Given the description of an element on the screen output the (x, y) to click on. 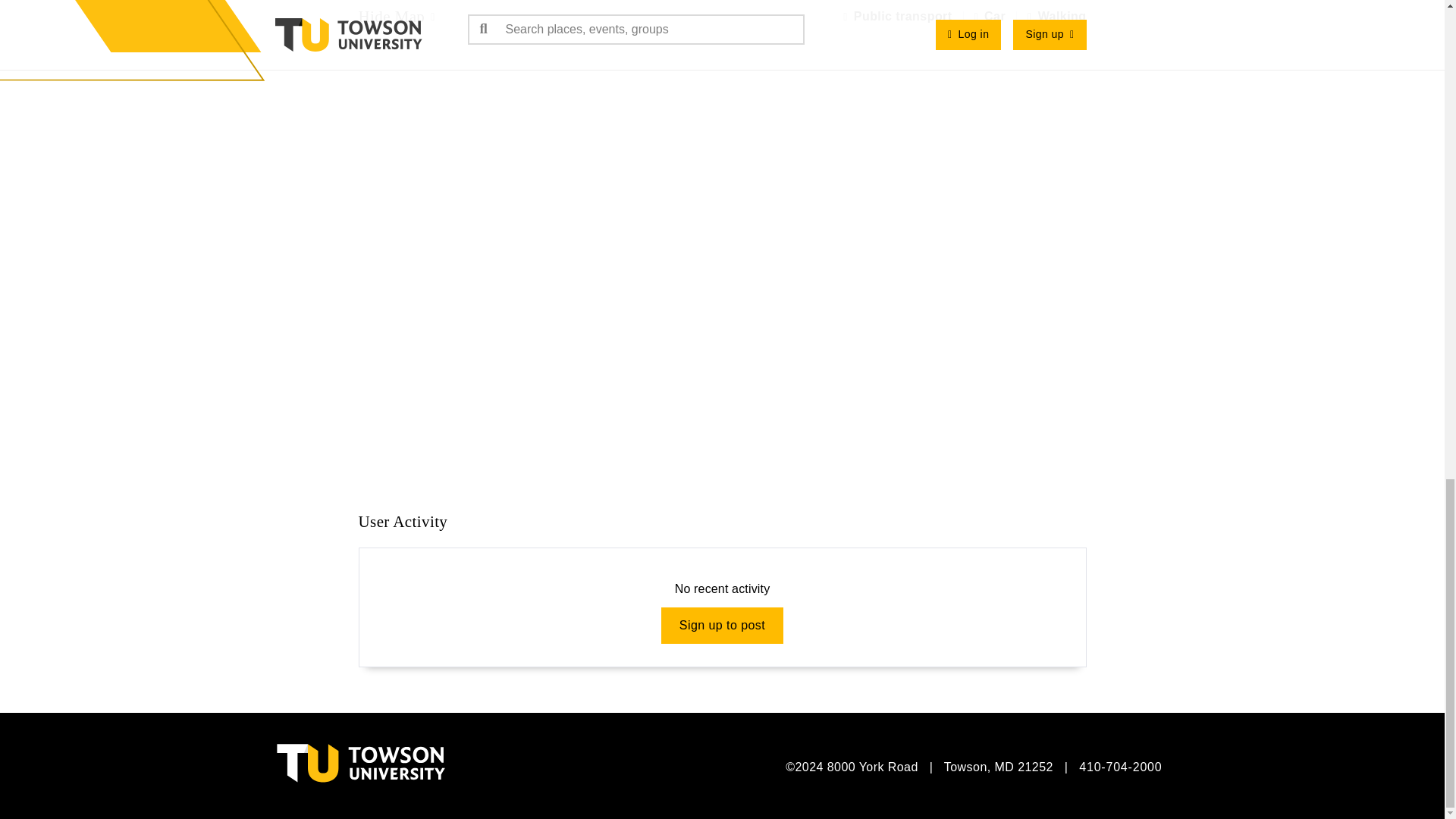
Towson University (418, 758)
